Given the description of an element on the screen output the (x, y) to click on. 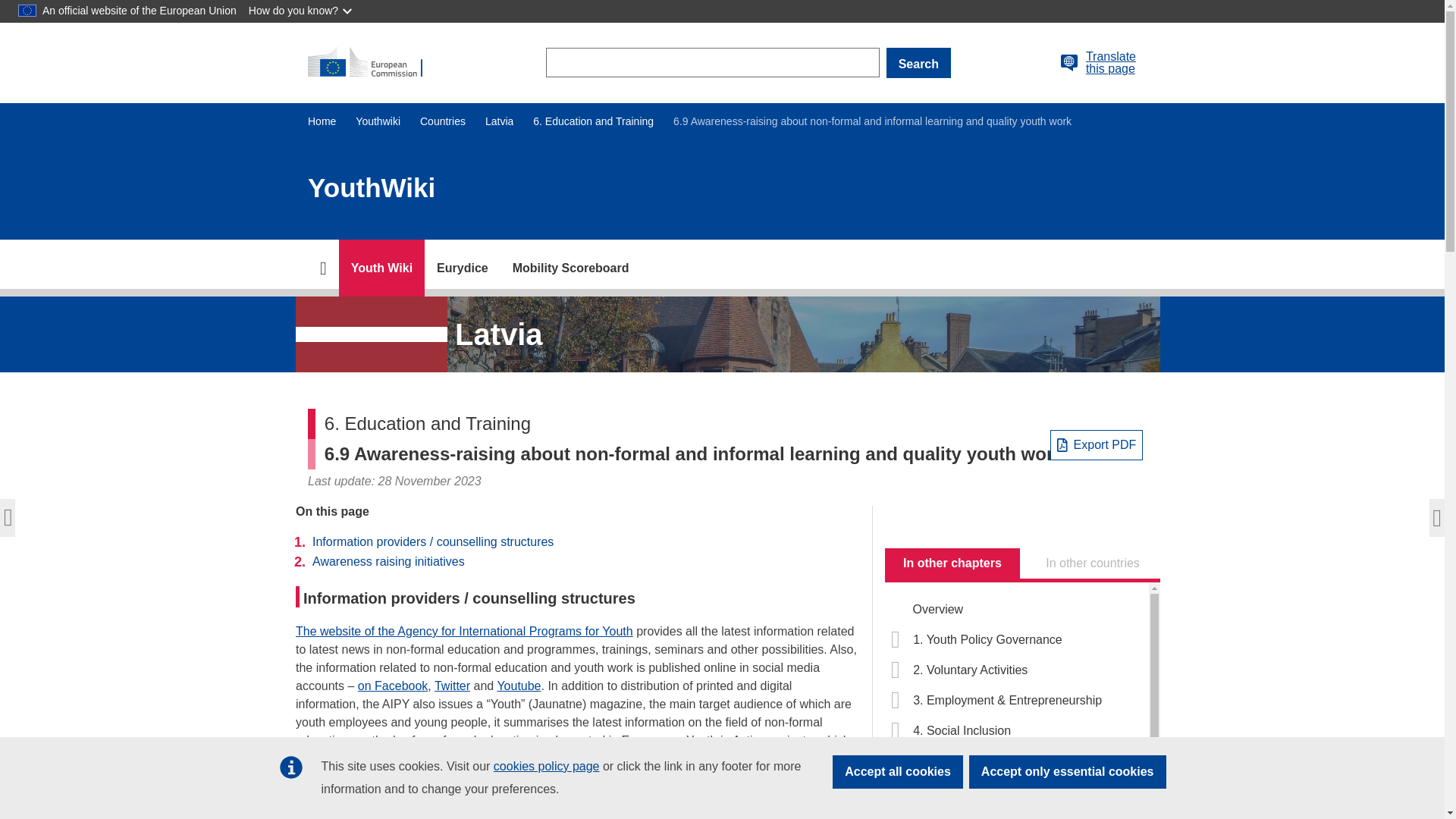
6. Education and Training (592, 121)
Youthwiki (377, 121)
Translate this page (1068, 63)
Eurydice (462, 267)
Search (918, 62)
Accept all cookies (897, 771)
Mobility Scoreboard (571, 267)
Latvia (498, 121)
European Commission (371, 63)
Translate this page (1110, 62)
National Policies Platform (382, 267)
Countries (442, 121)
Skip to main content (5, 6)
Youth Wiki (382, 267)
How do you know? (301, 10)
